Given the description of an element on the screen output the (x, y) to click on. 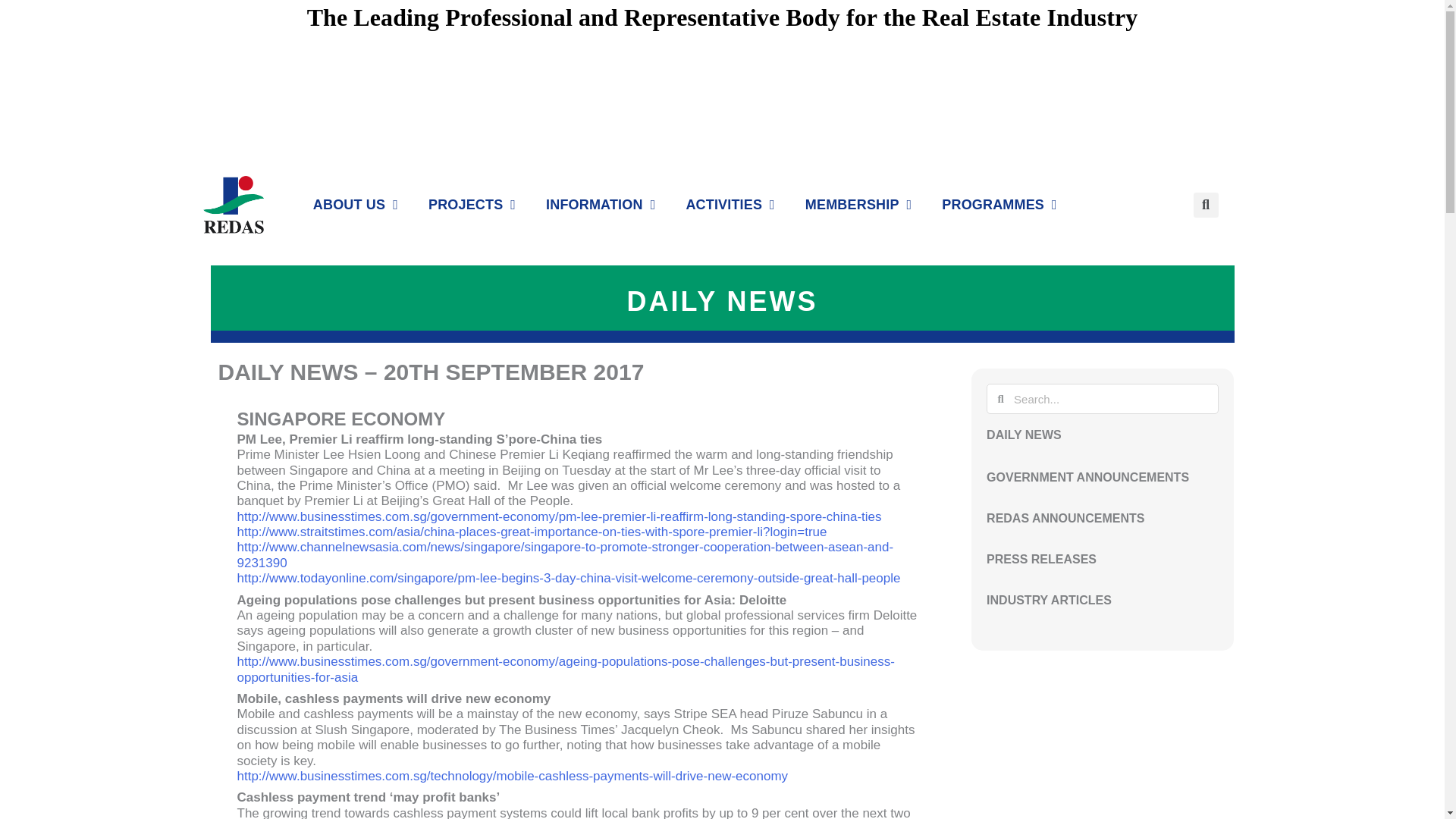
ACTIVITIES (729, 204)
INFORMATION (600, 204)
ABOUT US (355, 204)
PROGRAMMES (999, 204)
PROJECTS (471, 204)
Search (1111, 398)
MEMBERSHIP (858, 204)
